Given the description of an element on the screen output the (x, y) to click on. 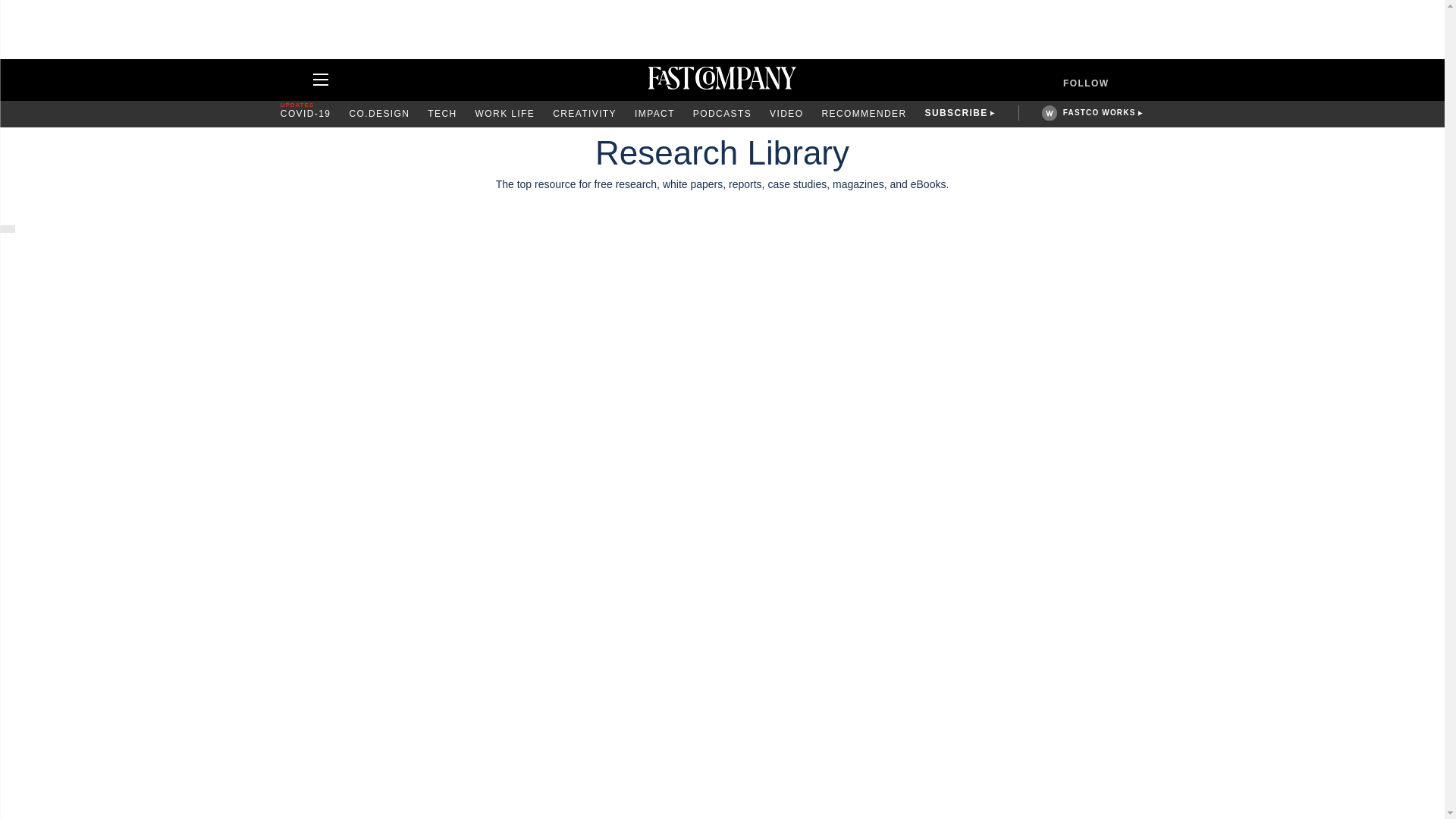
Recommender (863, 113)
Impact (654, 113)
WORK LIFE (505, 113)
CO.DESIGN (379, 113)
SUBSCRIBE (956, 113)
CREATIVITY (584, 113)
COVID-19 (306, 113)
Video (786, 113)
FASTCO WORKS (1098, 112)
PODCASTS (722, 113)
Tech (442, 113)
Work Life (505, 113)
TECH (442, 113)
RECOMMENDER (863, 113)
Fast Company (721, 79)
